Given the description of an element on the screen output the (x, y) to click on. 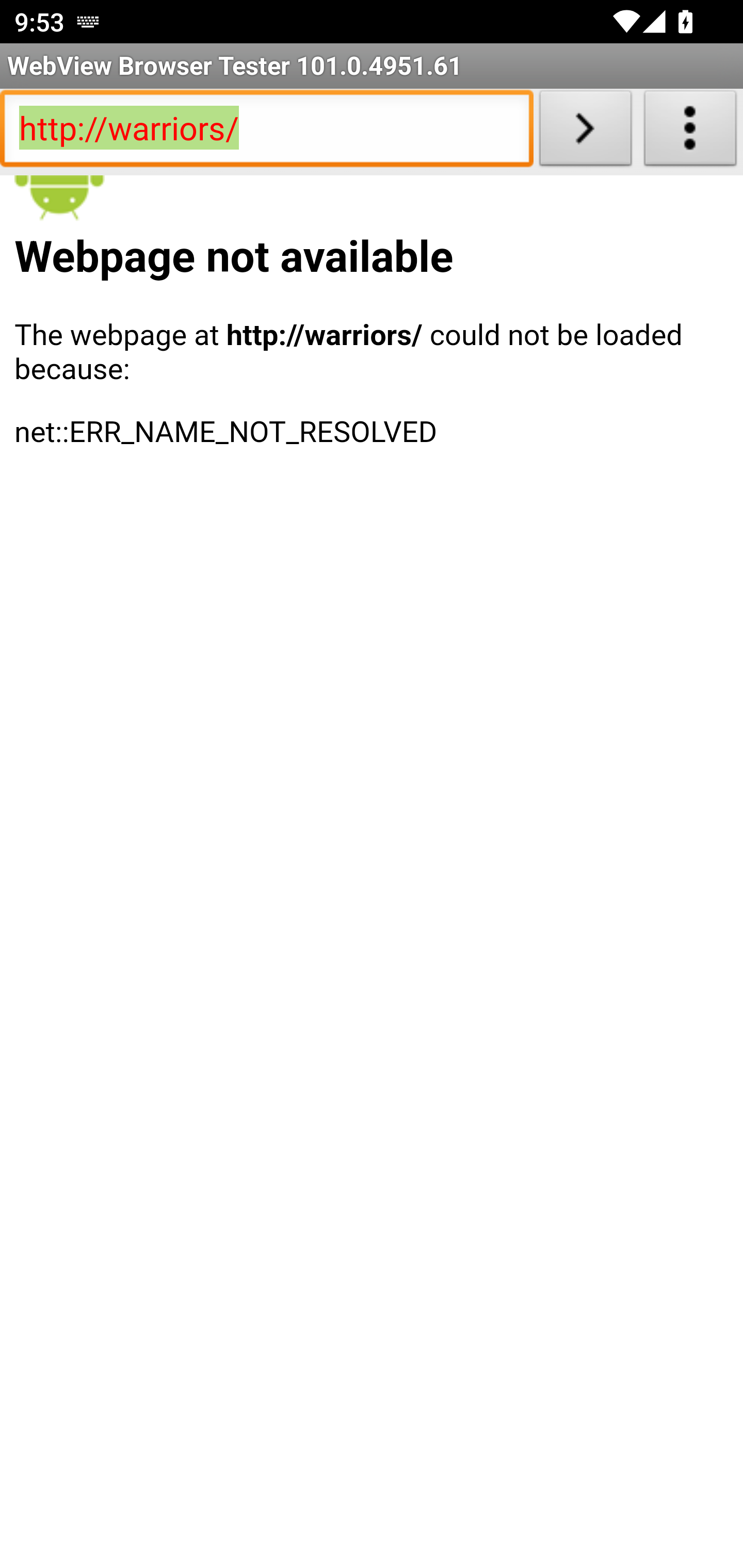
http://warriors/ (266, 132)
Load URL (585, 132)
About WebView (690, 132)
